Given the description of an element on the screen output the (x, y) to click on. 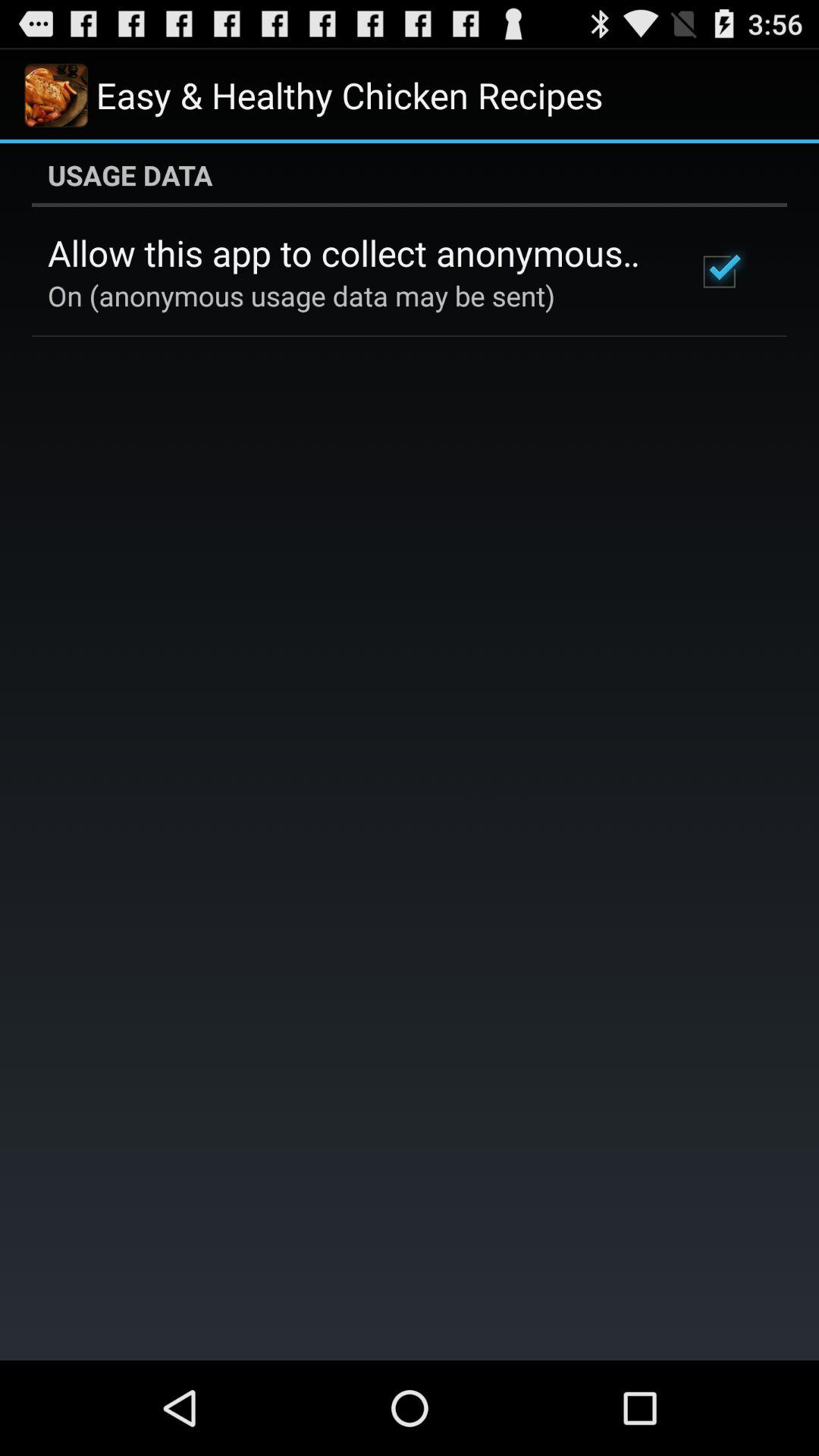
tap the icon below the usage data icon (719, 271)
